Given the description of an element on the screen output the (x, y) to click on. 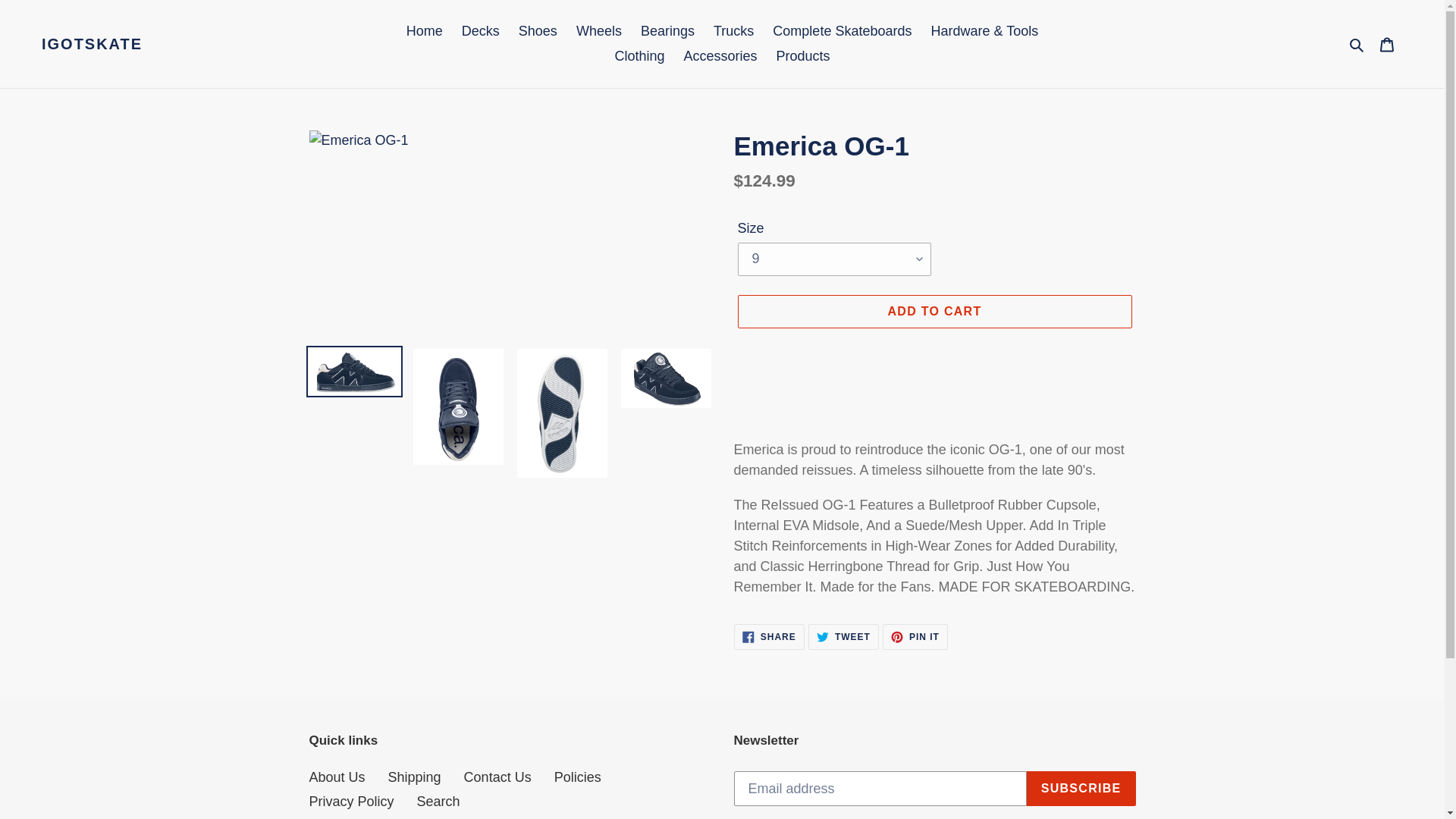
Bearings (769, 637)
Products (667, 31)
Trucks (803, 56)
Complete Skateboards (733, 31)
Search (841, 31)
Home (1357, 44)
Wheels (423, 31)
Decks (598, 31)
ADD TO CART (480, 31)
